Given the description of an element on the screen output the (x, y) to click on. 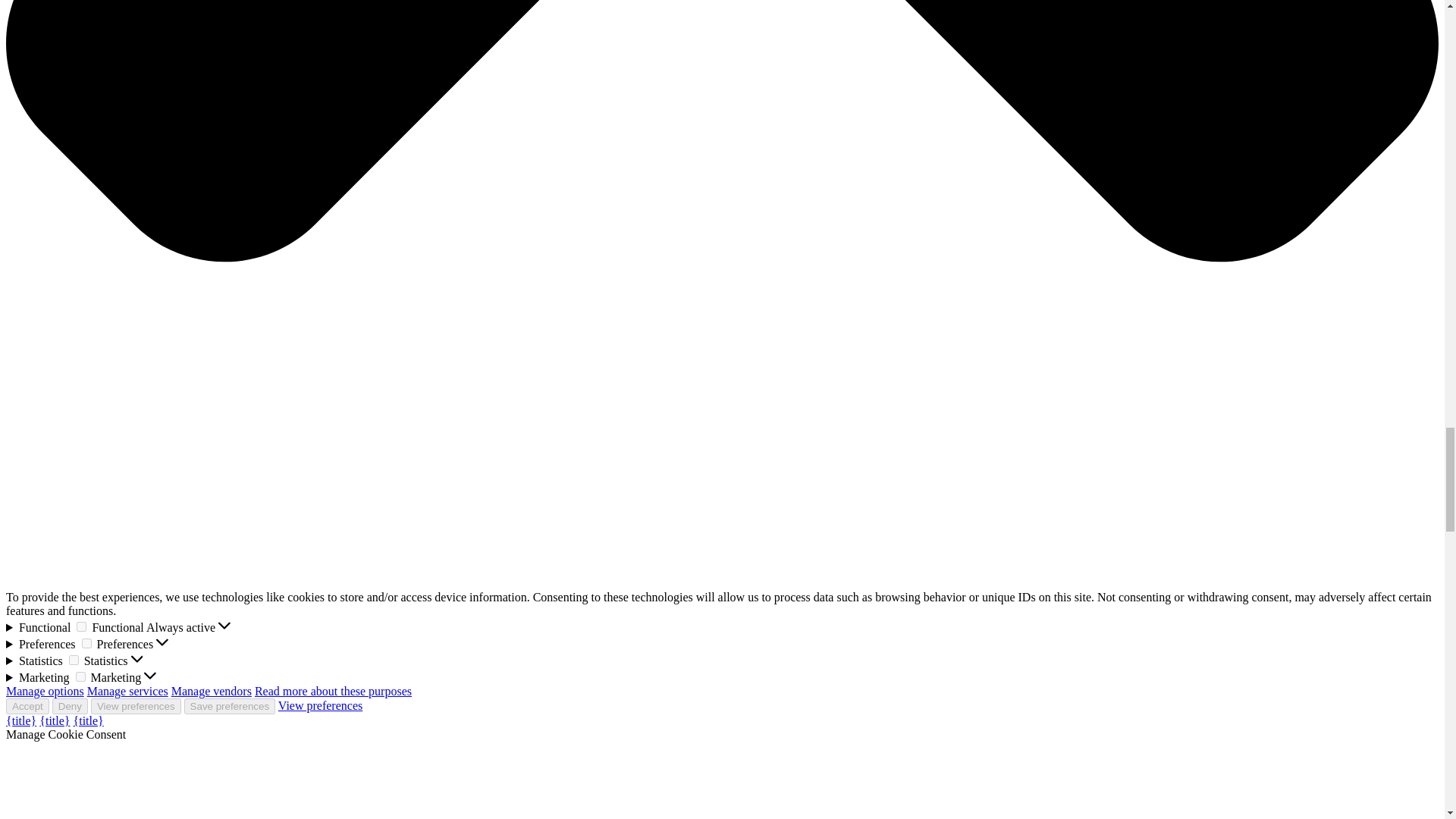
1 (73, 660)
View preferences (135, 706)
Manage options (44, 690)
1 (81, 626)
Accept (27, 706)
Manage services (127, 690)
Save preferences (229, 706)
Manage vendors (211, 690)
View preferences (320, 705)
Read more about these purposes (333, 690)
1 (86, 643)
1 (80, 676)
Deny (69, 706)
